Given the description of an element on the screen output the (x, y) to click on. 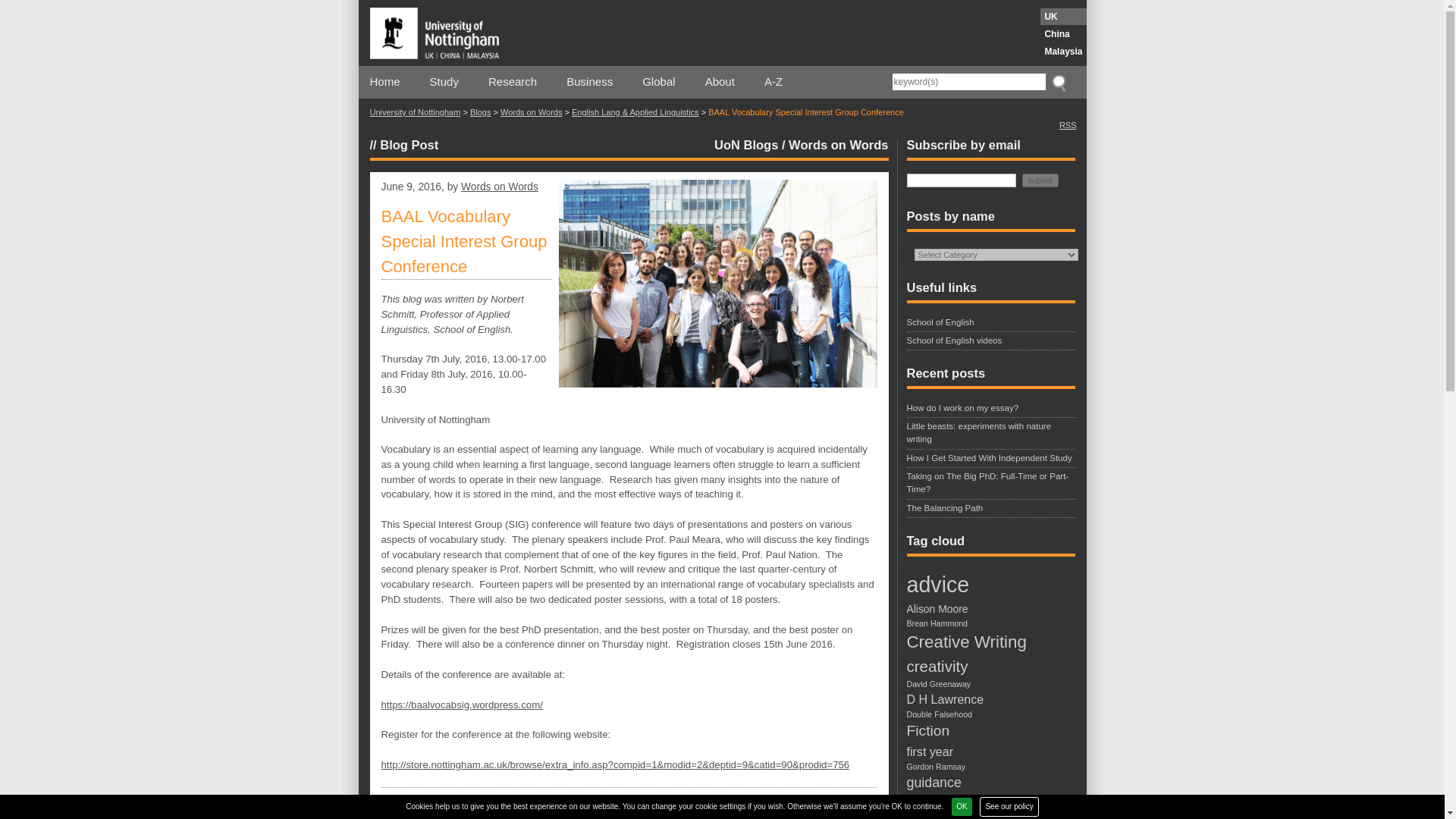
Business (589, 81)
Malaysia (1063, 51)
Global (658, 81)
Blogs (481, 112)
Research (599, 809)
RSS (1068, 123)
submit (1040, 179)
UK (1063, 16)
Words on Words (838, 144)
China (1063, 33)
Words on Words (531, 112)
Words on Words (499, 186)
OK (961, 806)
Research (512, 81)
UoN Blogs (745, 144)
